Given the description of an element on the screen output the (x, y) to click on. 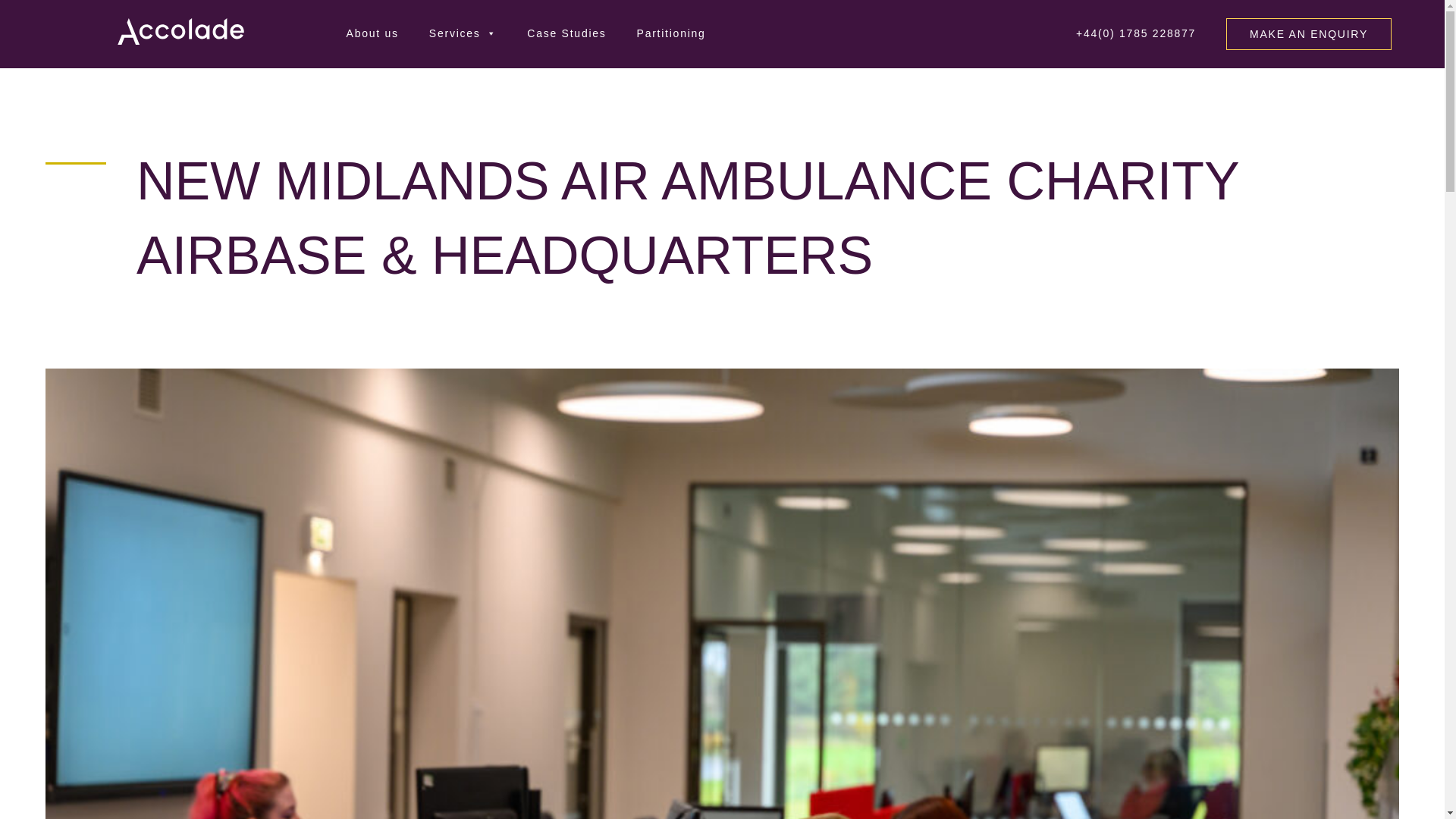
Case Studies (566, 33)
Partitioning (670, 33)
About us (368, 33)
MAKE AN ENQUIRY (1308, 33)
Services (462, 33)
